Given the description of an element on the screen output the (x, y) to click on. 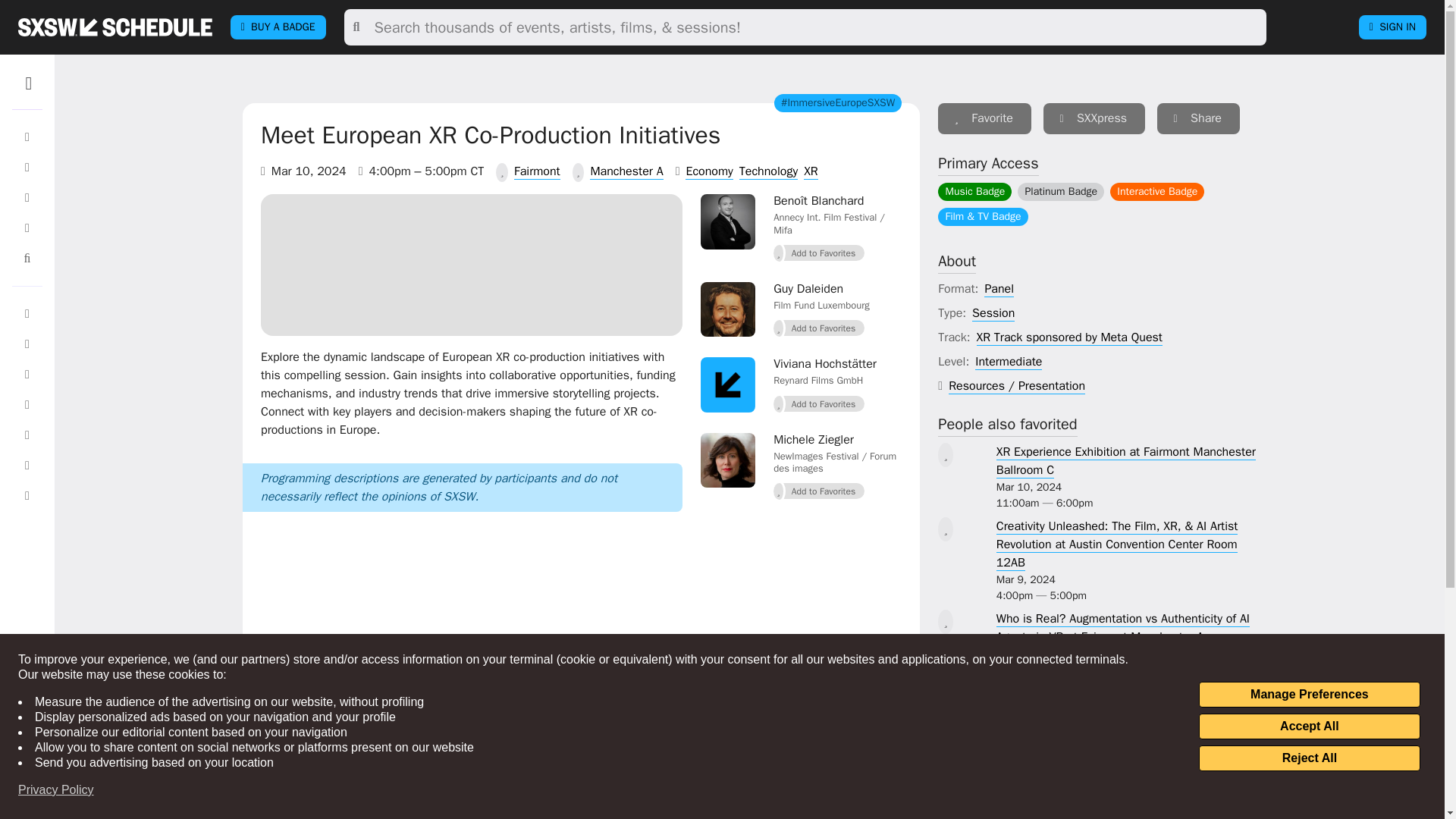
Privacy Policy (55, 789)
Manage Preferences (1309, 694)
Sign In to add to your favorites. (983, 118)
Sign In to add to your favorites. (818, 491)
Fairmont (536, 171)
SIGN IN (1392, 27)
sxsw SCHEDULE (114, 27)
BUY A BADGE (278, 27)
Accept All (1309, 726)
Sign In to add to your favorites. (818, 403)
Reject All (1309, 758)
Sign In to add to your favorites. (818, 252)
Meet European XR Co-Production Initiatives, Mar 10, 2024 (471, 262)
Sign In to add to your favorites. (818, 328)
